Given the description of an element on the screen output the (x, y) to click on. 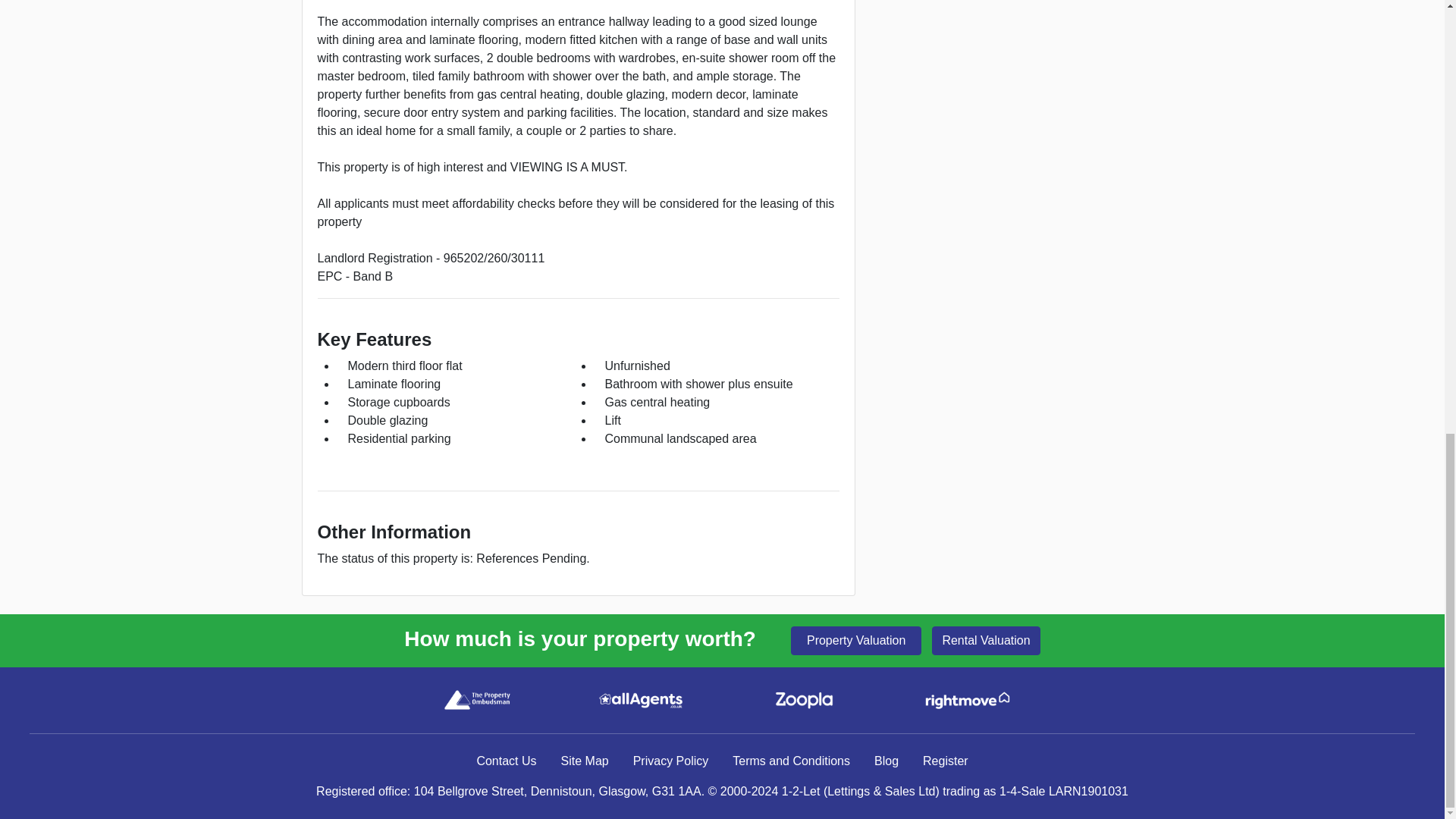
Register (945, 761)
Rental Valuation (985, 640)
Terms and Conditions (790, 761)
Blog (886, 761)
Property Valuation (855, 640)
Privacy Policy (670, 761)
Contact Us (506, 761)
Site Map (584, 761)
